Given the description of an element on the screen output the (x, y) to click on. 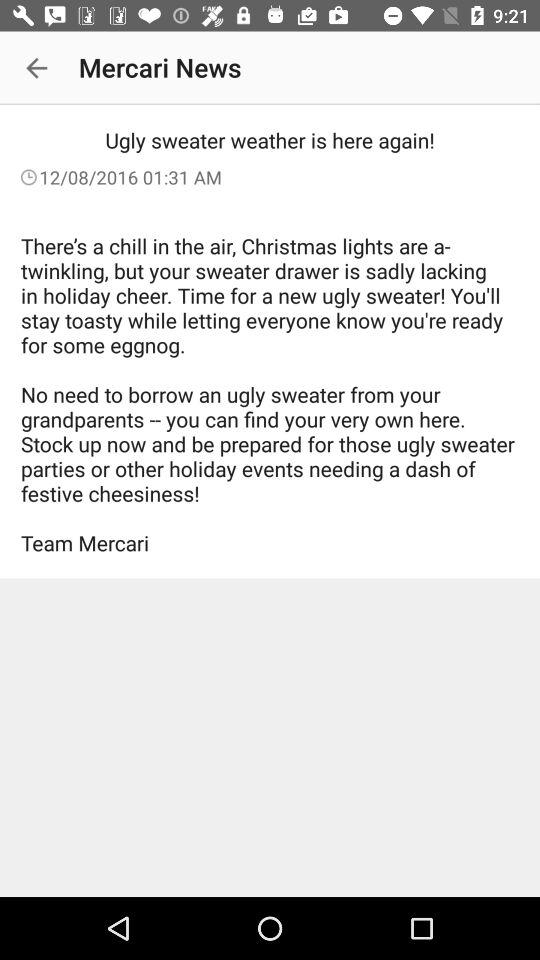
press item above the 12 08 2016 icon (36, 67)
